Given the description of an element on the screen output the (x, y) to click on. 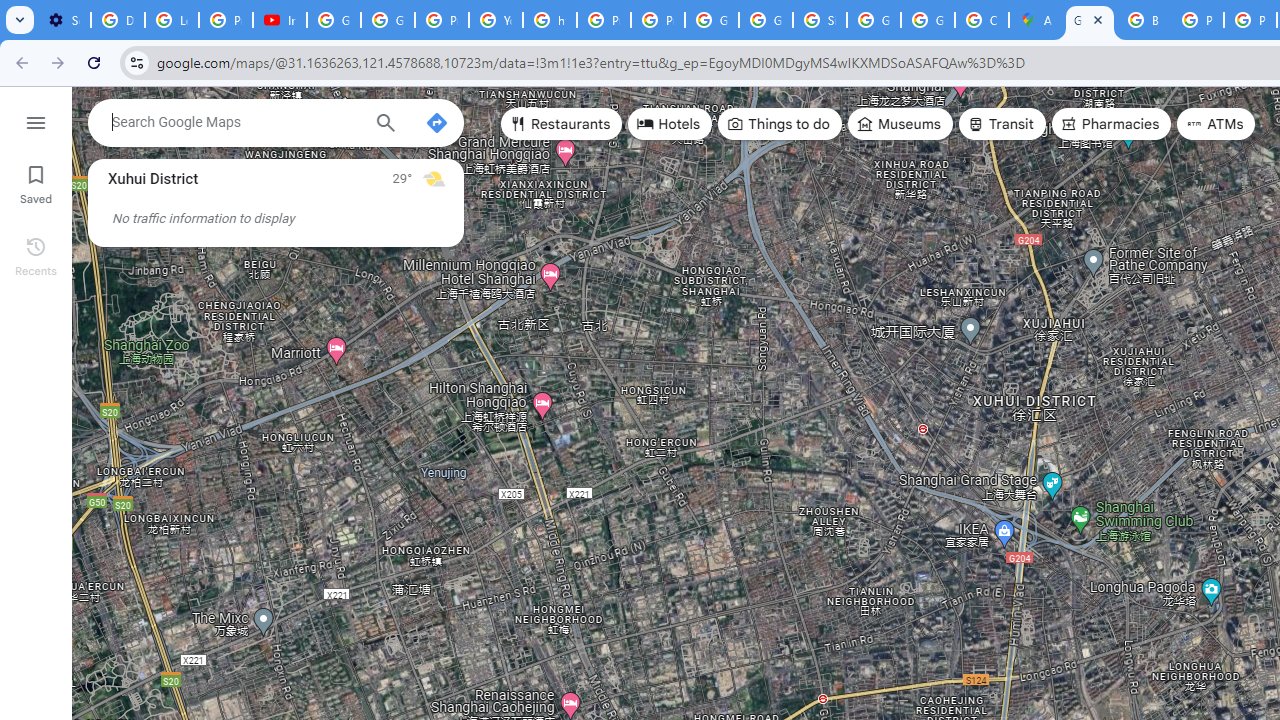
Learn how to find your photos - Google Photos Help (171, 20)
Introduction | Google Privacy Policy - YouTube (280, 20)
Blogger Policies and Guidelines - Transparency Center (1144, 20)
https://scholar.google.com/ (550, 20)
Create your Google Account (981, 20)
Settings - Customize profile (63, 20)
Recents (35, 254)
